Given the description of an element on the screen output the (x, y) to click on. 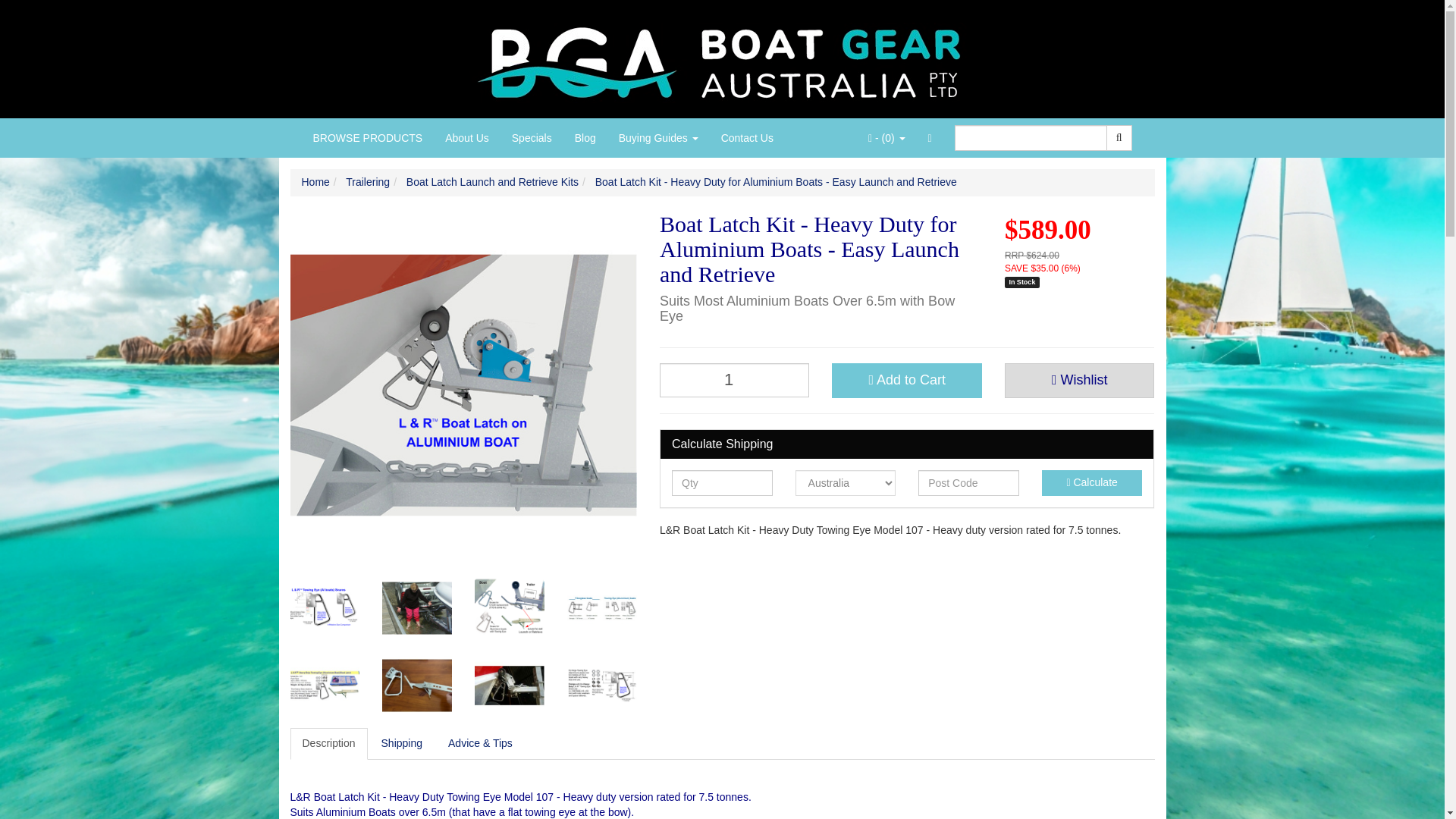
BROWSE PRODUCTS (367, 137)
1 (734, 380)
Add To Wishlist (1079, 380)
Large View (602, 607)
Wishlist (1079, 380)
Description (327, 744)
Search (1119, 137)
Boat Gear Australia Pty Ltd (722, 58)
Contact Us (747, 137)
Large View (509, 685)
Trailering (368, 182)
Calculate (1092, 483)
Blog (585, 137)
Large View (416, 685)
